Given the description of an element on the screen output the (x, y) to click on. 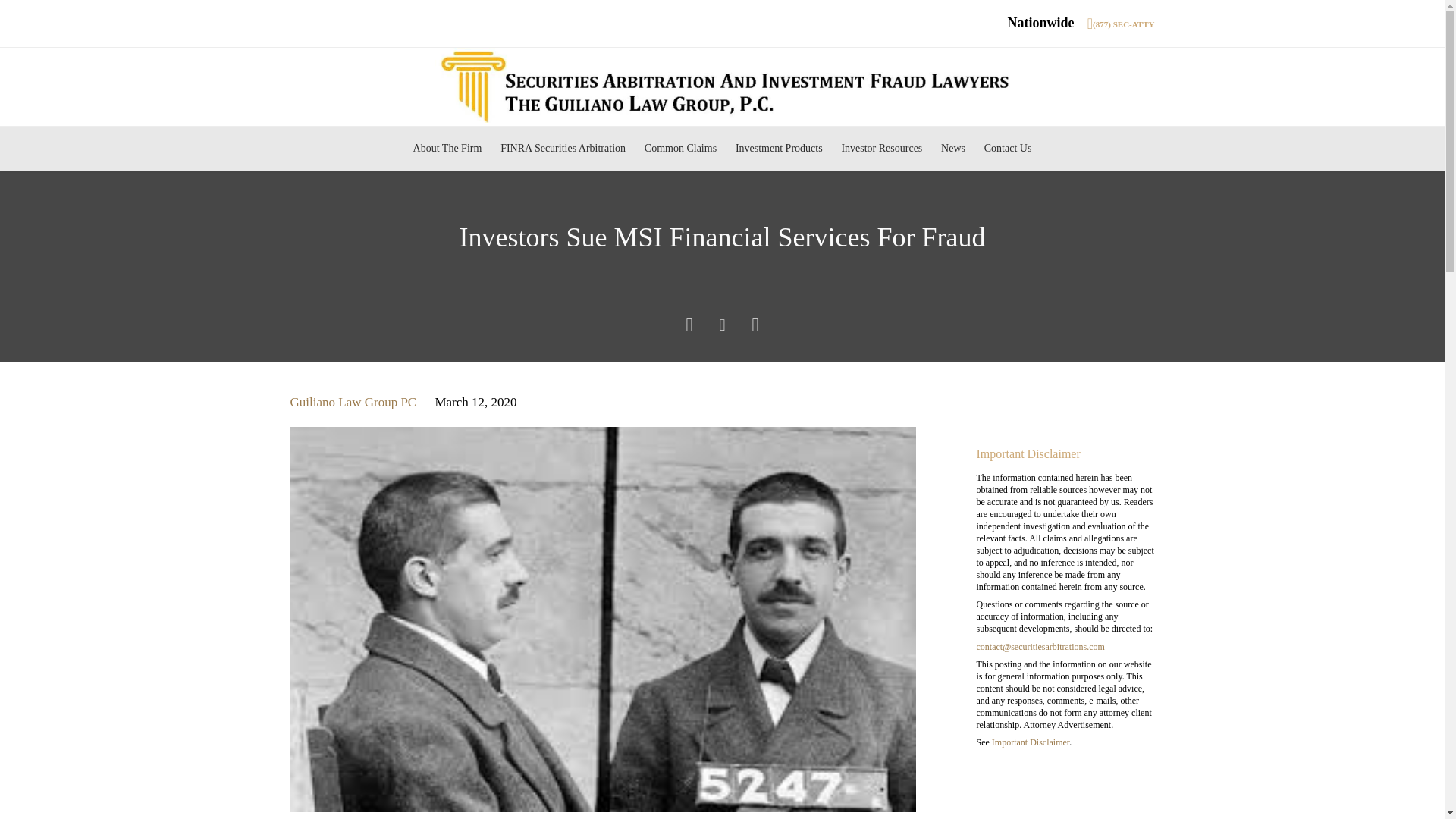
Posts by Guiliano Law Group PC (352, 401)
About The Firm (446, 148)
FINRA Securities Arbitration (563, 148)
Common Claims (679, 148)
